Given the description of an element on the screen output the (x, y) to click on. 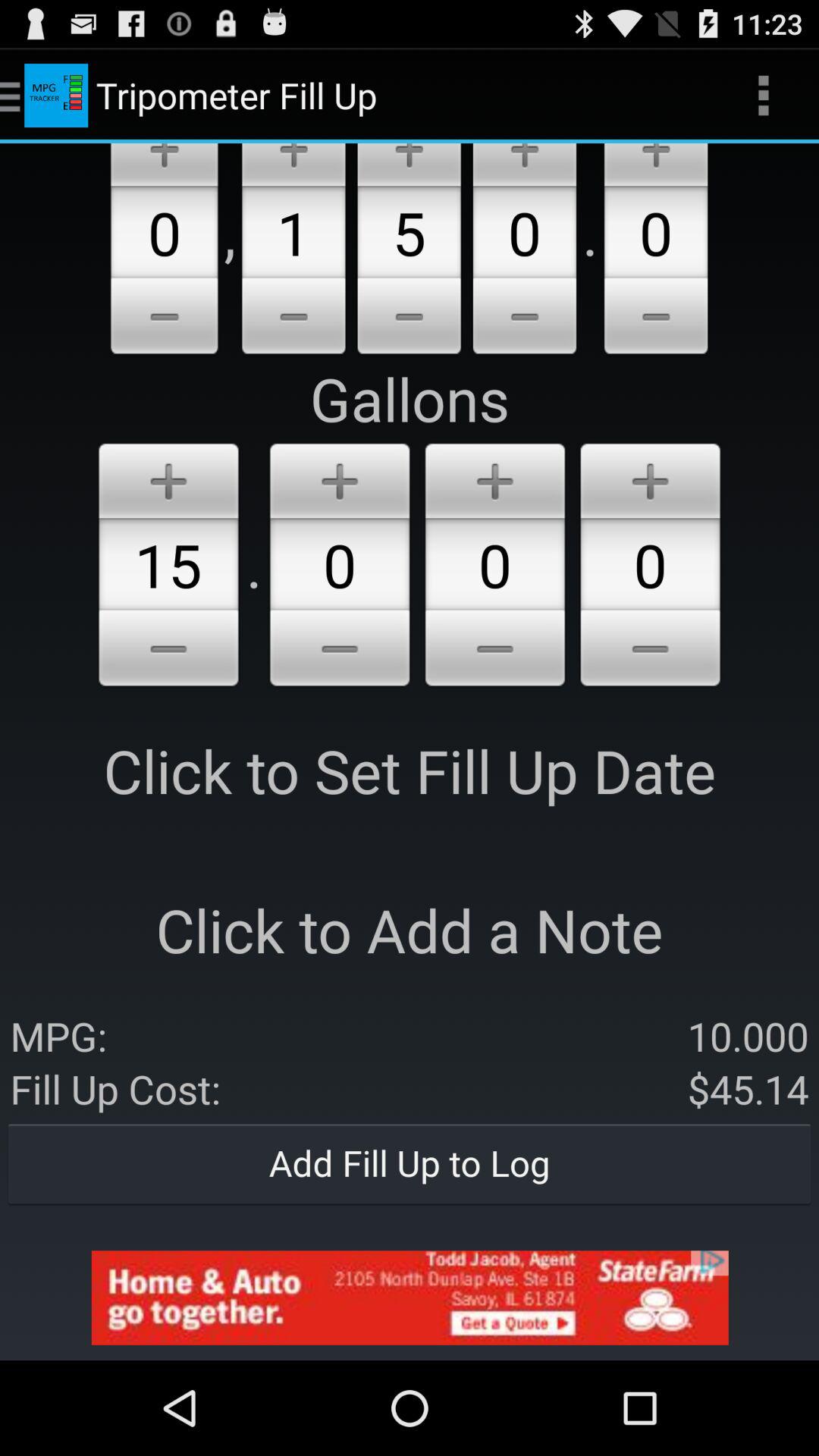
fill up to the date (168, 651)
